Given the description of an element on the screen output the (x, y) to click on. 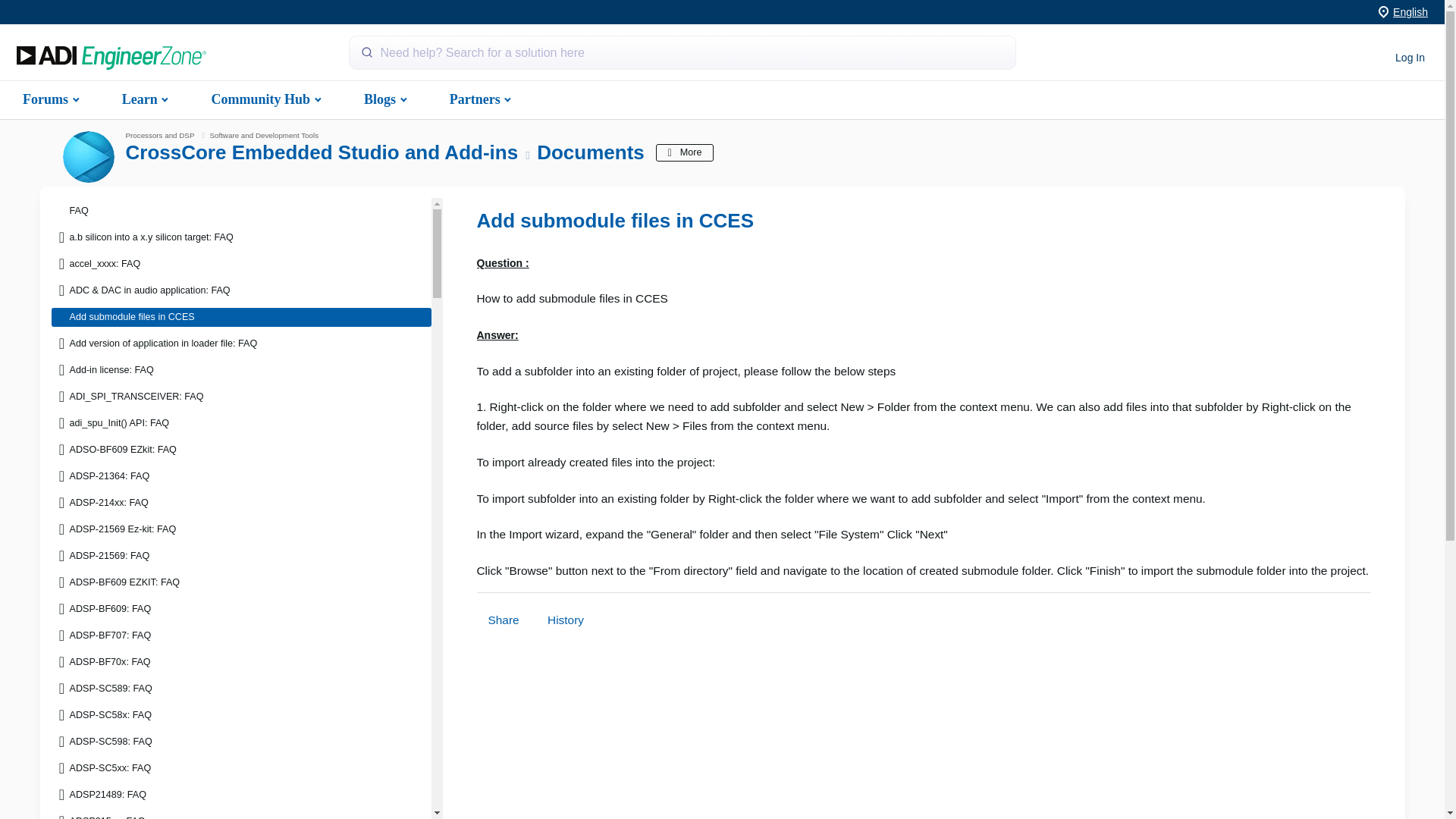
Home (111, 57)
Join or sign in (1409, 57)
English (1410, 11)
Forums (49, 98)
Log In (1409, 57)
